Given the description of an element on the screen output the (x, y) to click on. 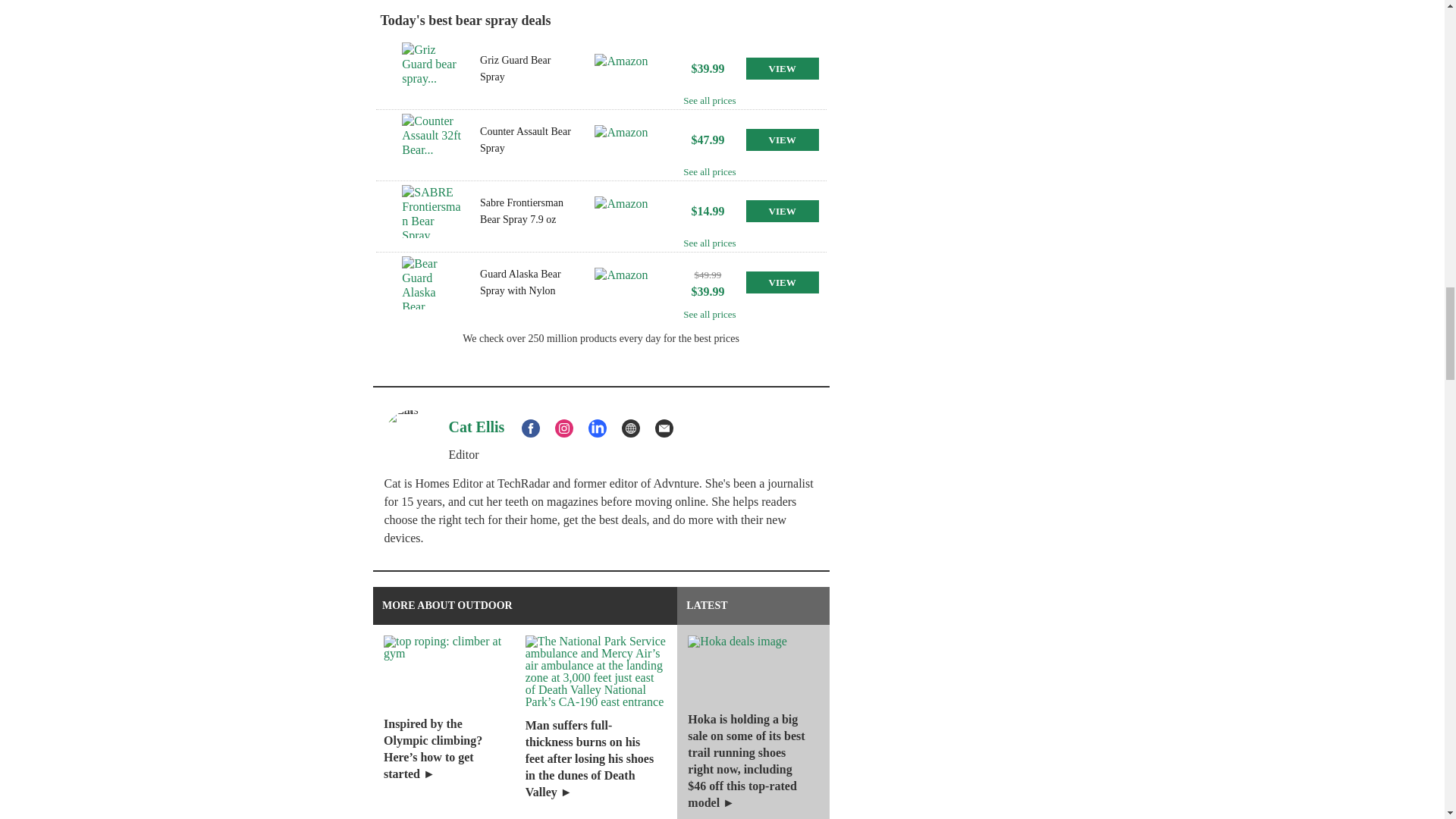
Griz Guard bear spray... (431, 68)
Amazon (624, 140)
SABRE Frontiersman Bear Spray... (431, 211)
Amazon (624, 69)
Amazon (624, 211)
Bear Guard Alaska Bear Pepper... (431, 282)
Counter Assault 32ft Bear... (431, 140)
Amazon (624, 282)
